Given the description of an element on the screen output the (x, y) to click on. 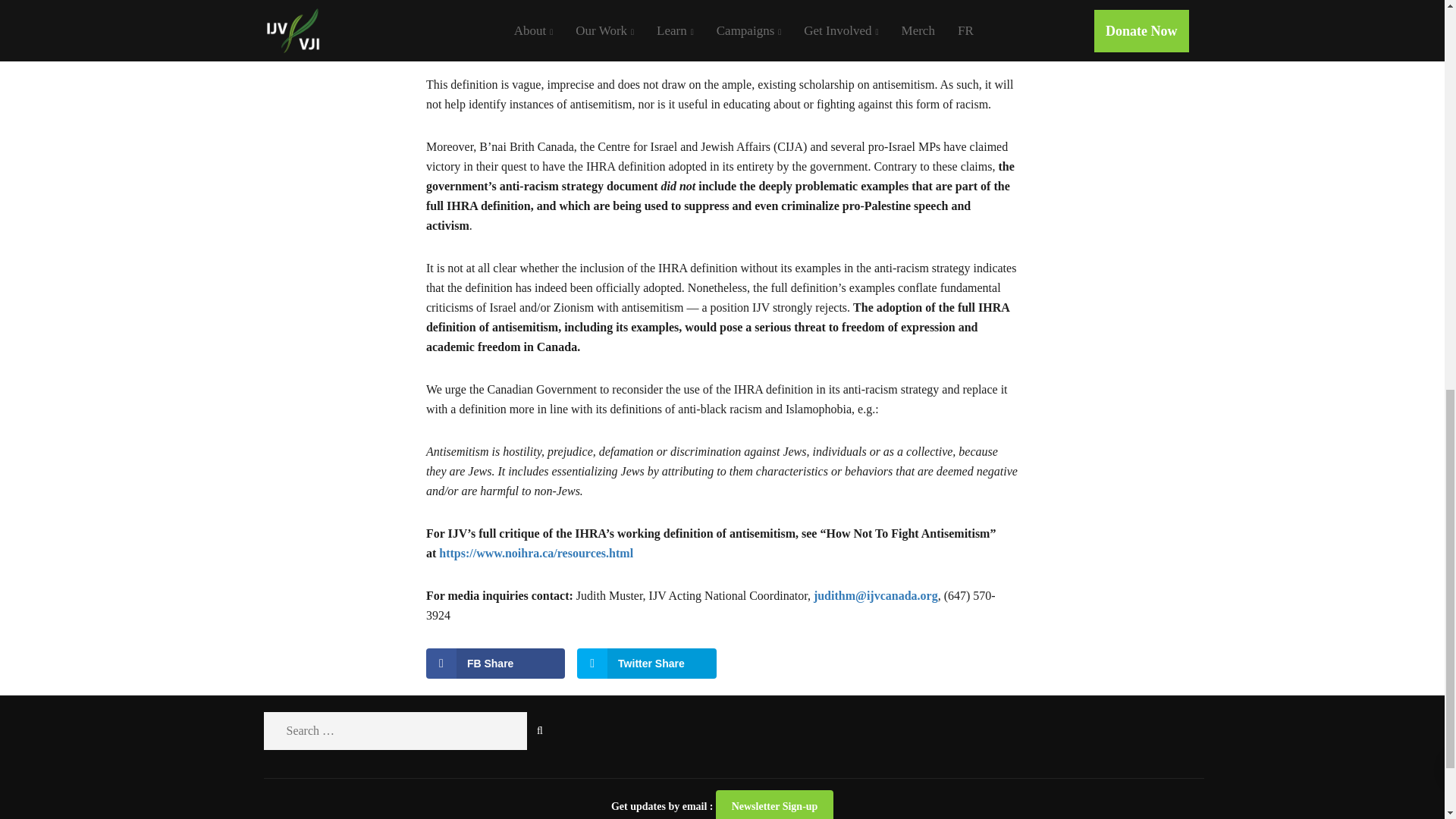
Twitter Share (646, 663)
Newsletter Sign-up (774, 804)
FB Share (496, 663)
